Given the description of an element on the screen output the (x, y) to click on. 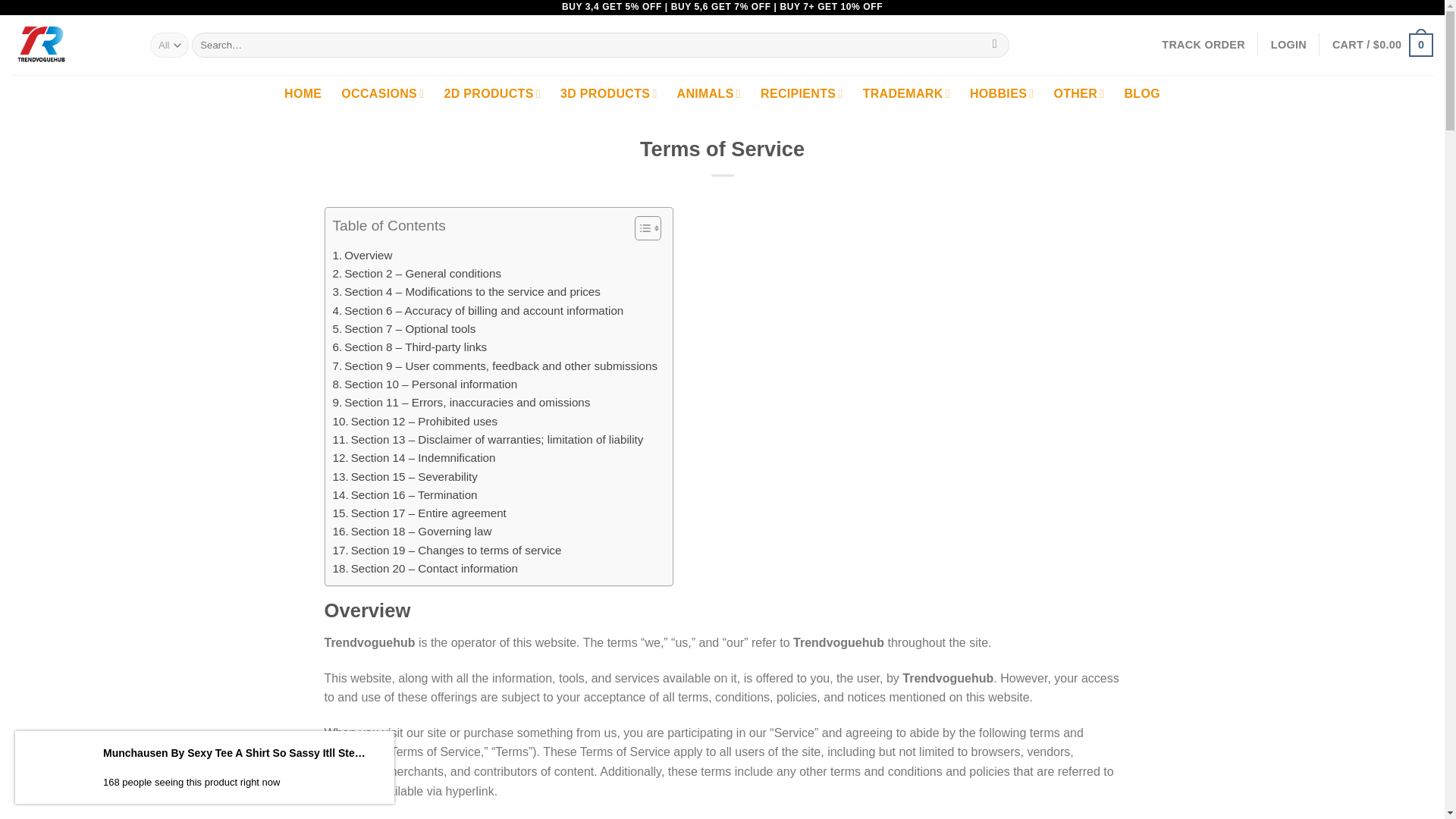
Overview (361, 255)
Track your order here! (1202, 44)
Search (994, 45)
TRACK ORDER (1202, 44)
ANIMALS (709, 94)
LOGIN (1288, 44)
HOME (302, 94)
Trendvoguehub - Just Your Style (69, 45)
2D PRODUCTS (492, 94)
Cart (1382, 44)
3D PRODUCTS (609, 94)
OCCASIONS (381, 94)
